Given the description of an element on the screen output the (x, y) to click on. 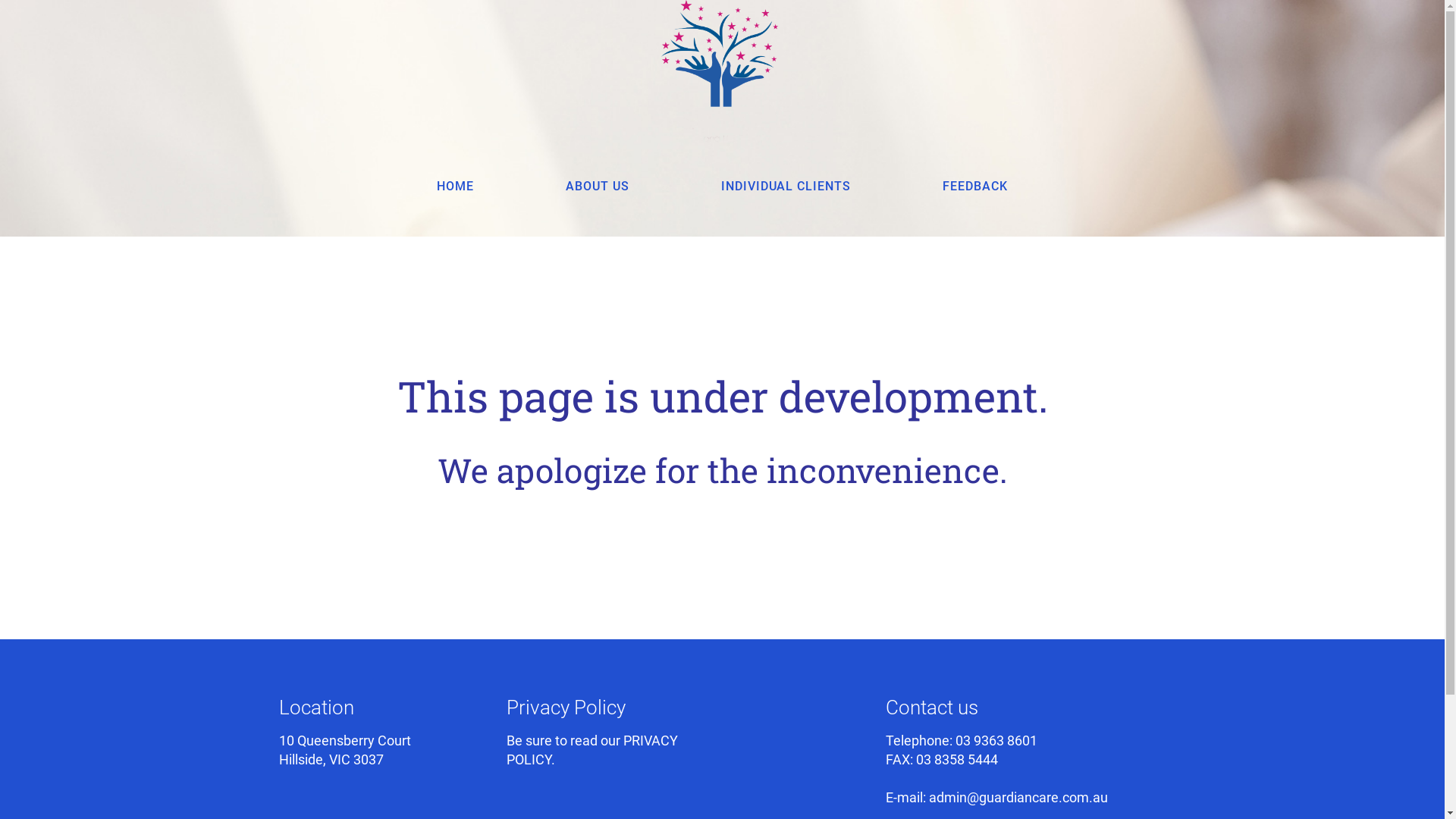
Telephone: Element type: text (920, 740)
HOME Element type: text (455, 186)
ABOUT US Element type: text (597, 186)
PRIVACY POLICY Element type: text (591, 749)
FEEDBACK Element type: text (975, 186)
Contact us Element type: text (931, 707)
. Element type: text (552, 759)
03 8358 5444 Element type: text (956, 759)
03 9363 8601 Element type: text (996, 740)
INDIVIDUAL CLIENTS Element type: text (785, 186)
admin@guardiancare.com.au Element type: text (1017, 797)
